Given the description of an element on the screen output the (x, y) to click on. 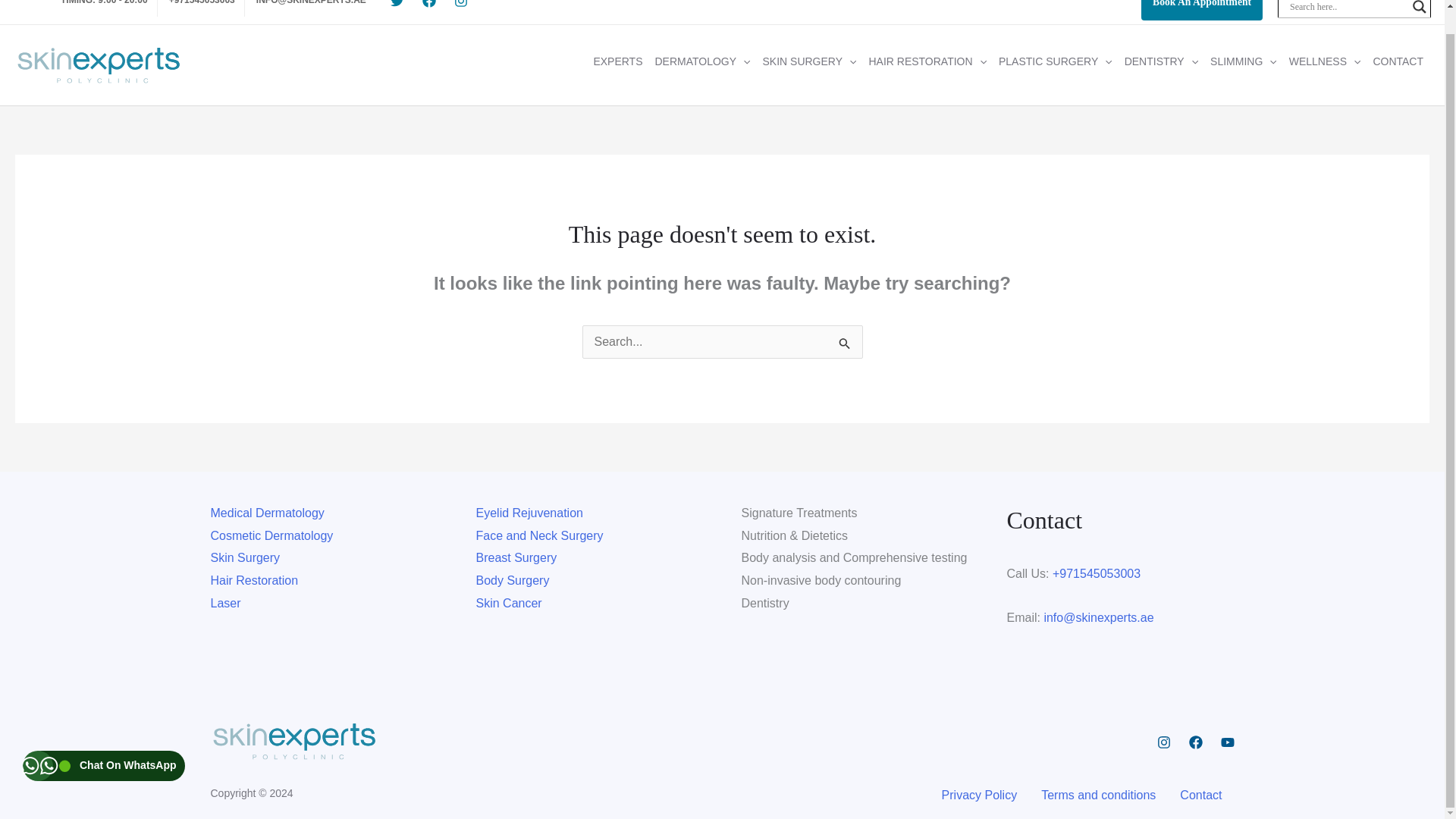
TIMING: 9:00 - 20:00 (103, 8)
DERMATOLOGY (701, 65)
Book An Appointment (1201, 10)
Text us on WhatsApp (103, 741)
